Given the description of an element on the screen output the (x, y) to click on. 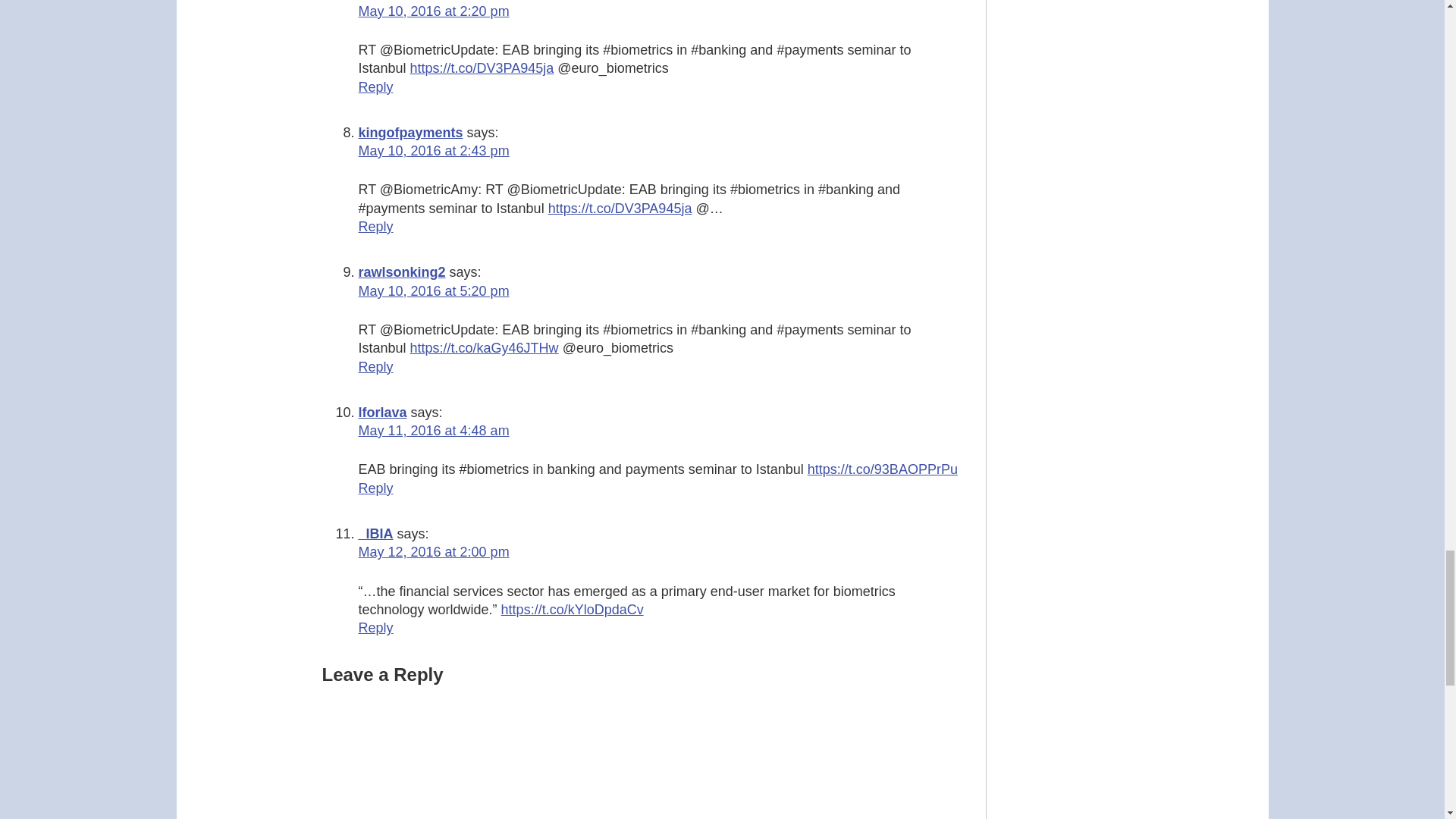
Comment Form (639, 752)
